Given the description of an element on the screen output the (x, y) to click on. 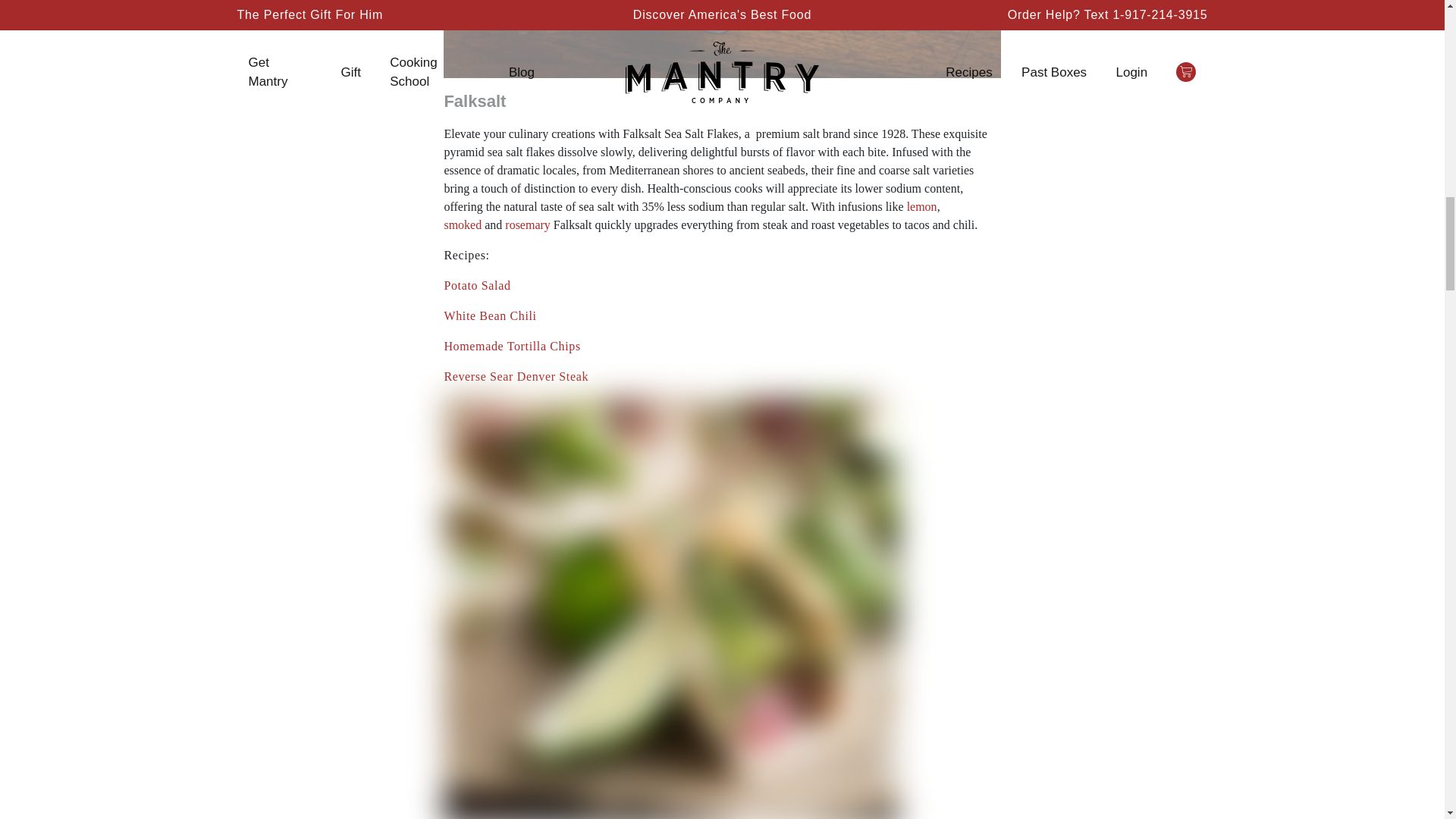
Reverse Sear Denver Steak (516, 376)
Homemade Tortilla Chips (511, 346)
White Bean Chili (489, 316)
lemon (922, 205)
rosemary (527, 224)
smoked (462, 224)
Potato Salad (477, 285)
